Given the description of an element on the screen output the (x, y) to click on. 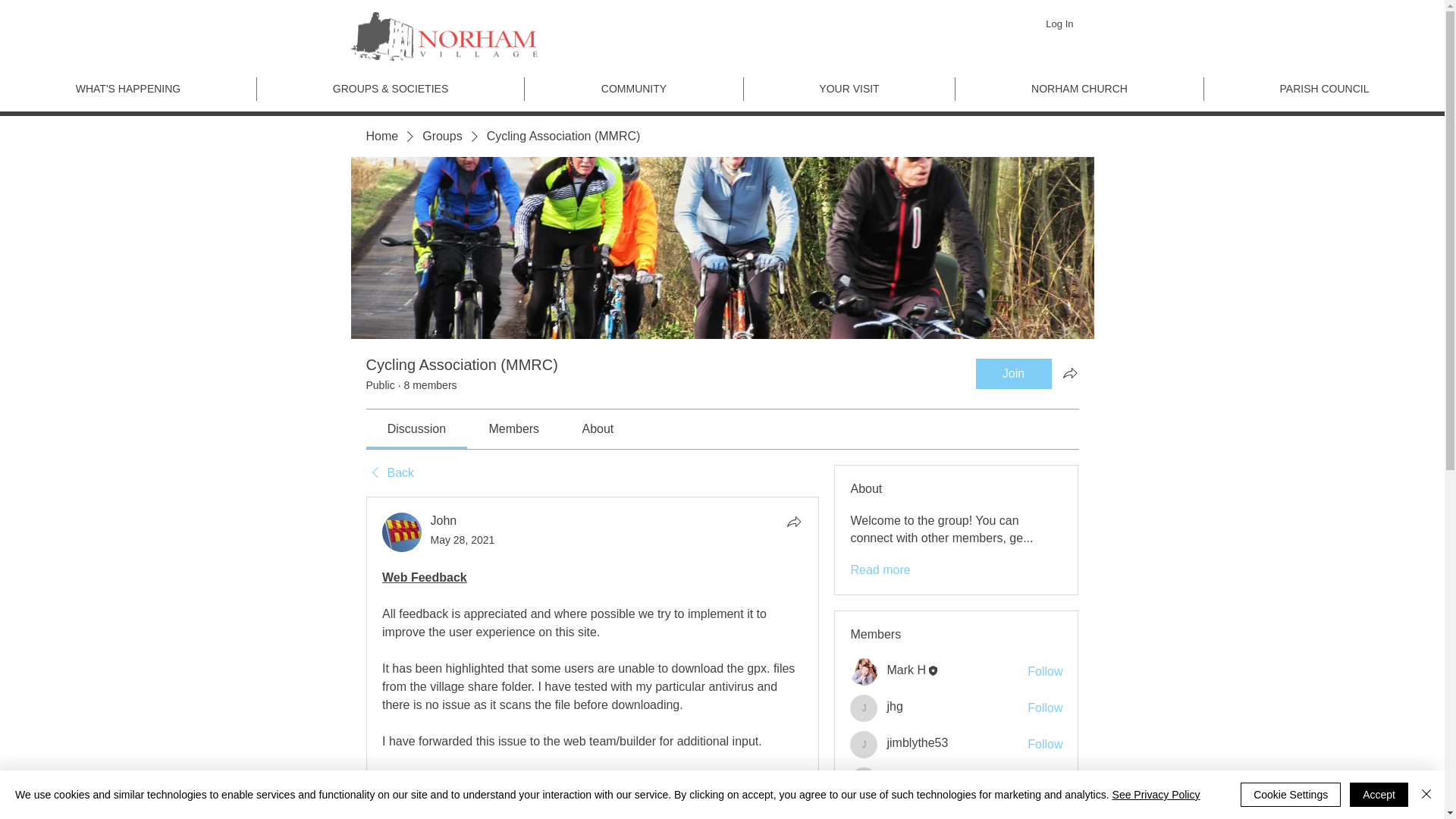
Groups (441, 135)
Mark H (863, 671)
John (401, 532)
jhg (863, 707)
Trevor Kirby (863, 780)
jimblythe53 (863, 744)
Chris N-t (863, 811)
Home (381, 135)
Log In (1059, 24)
